Given the description of an element on the screen output the (x, y) to click on. 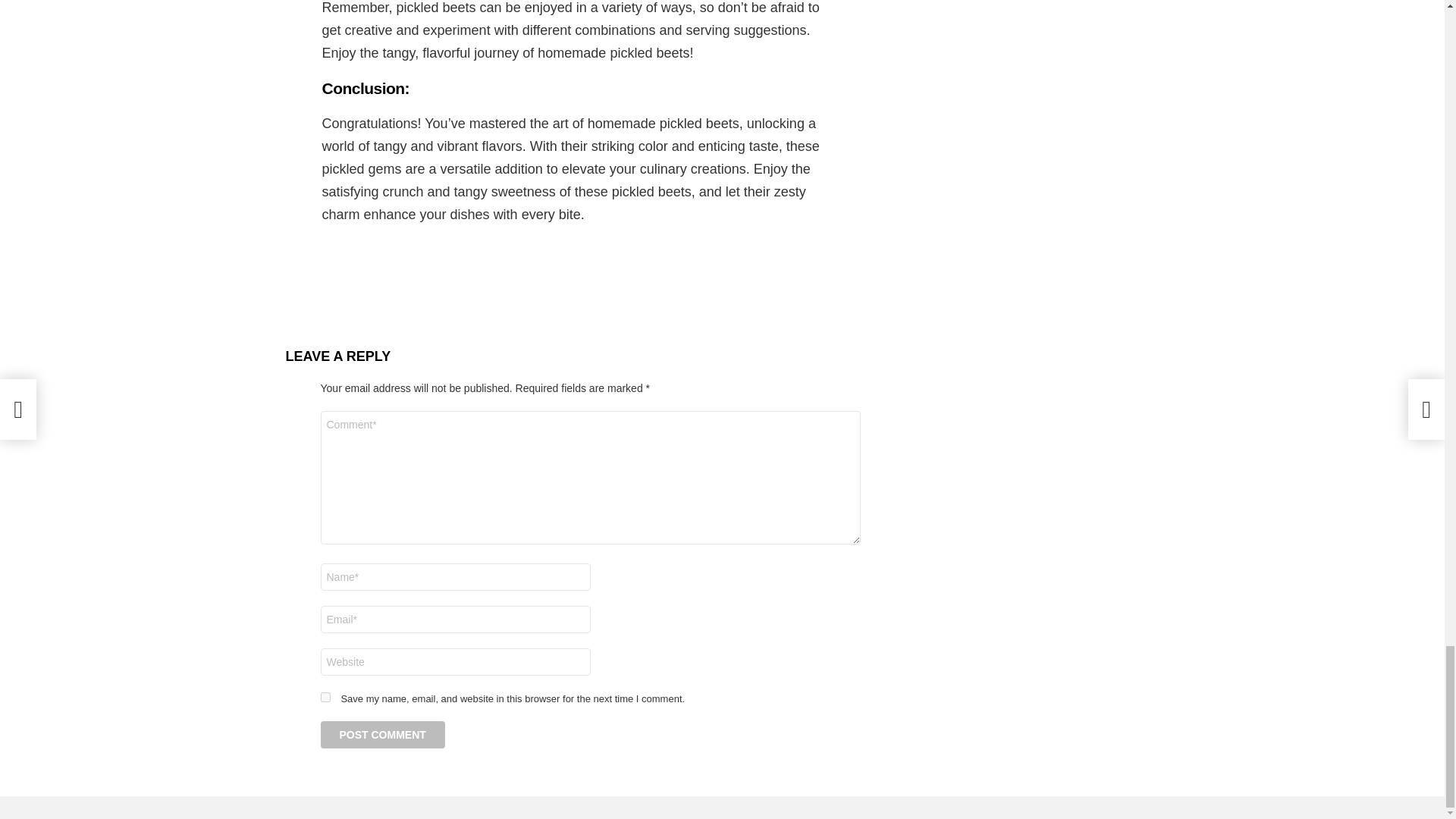
Post Comment (382, 734)
Post Comment (382, 734)
yes (325, 696)
